Given the description of an element on the screen output the (x, y) to click on. 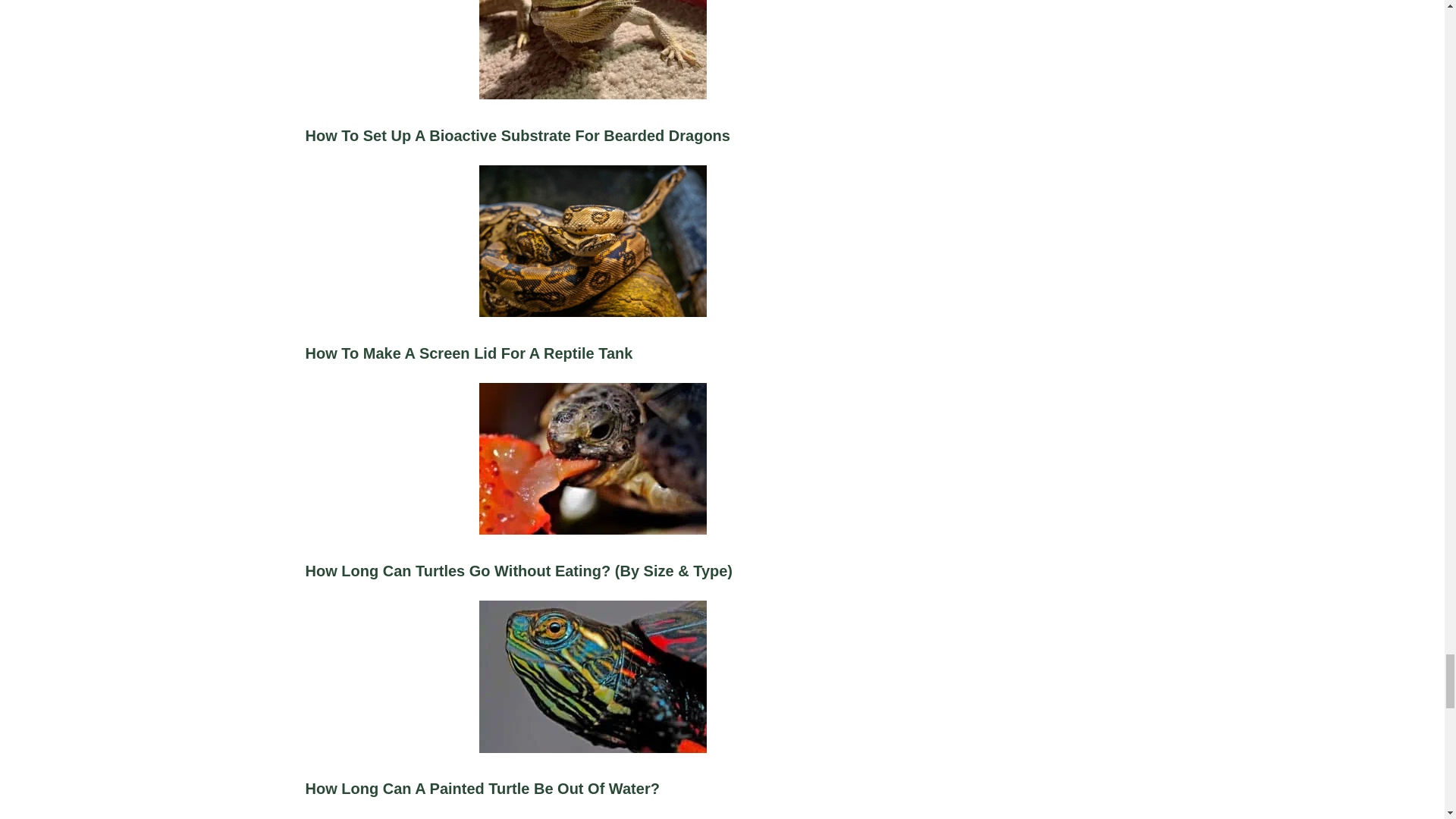
How To Set Up A Bioactive Substrate For Bearded Dragons (592, 90)
